Given the description of an element on the screen output the (x, y) to click on. 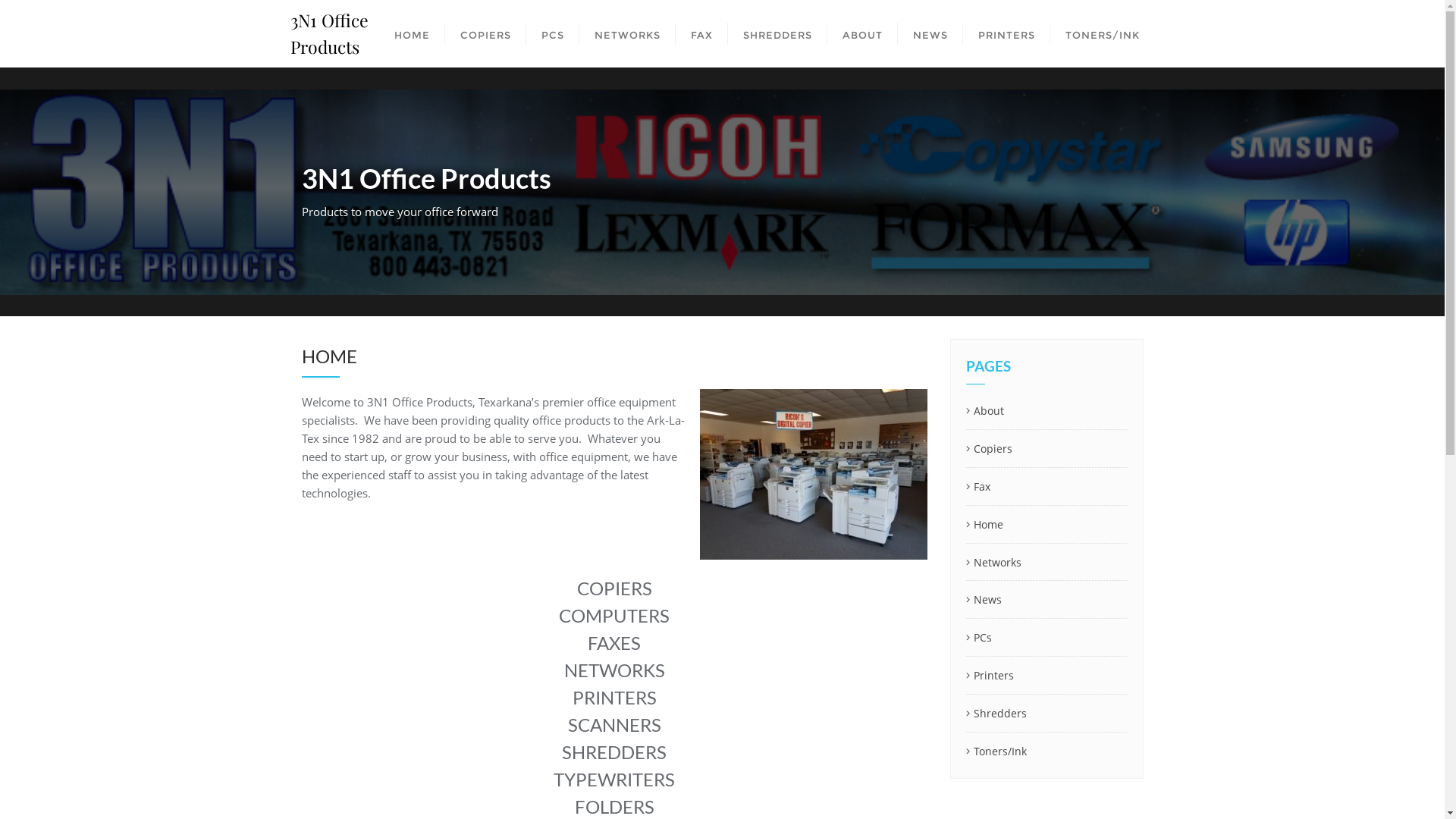
PRINTERS Element type: text (1006, 33)
Printers Element type: text (1046, 675)
ABOUT Element type: text (861, 33)
Home Element type: text (1046, 524)
Toners/Ink Element type: text (1046, 751)
PCS Element type: text (552, 33)
COPIERS Element type: text (484, 33)
News Element type: text (1046, 599)
Fax Element type: text (1046, 486)
Networks Element type: text (1046, 562)
NETWORKS Element type: text (627, 33)
PCs Element type: text (1046, 637)
HOME Element type: text (412, 33)
3N1 Office Products Element type: text (333, 33)
Shredders Element type: text (1046, 713)
Copiers Element type: text (1046, 449)
TONERS/INK Element type: text (1101, 33)
FAX Element type: text (700, 33)
About Element type: text (1046, 411)
NEWS Element type: text (930, 33)
SHREDDERS Element type: text (777, 33)
